Given the description of an element on the screen output the (x, y) to click on. 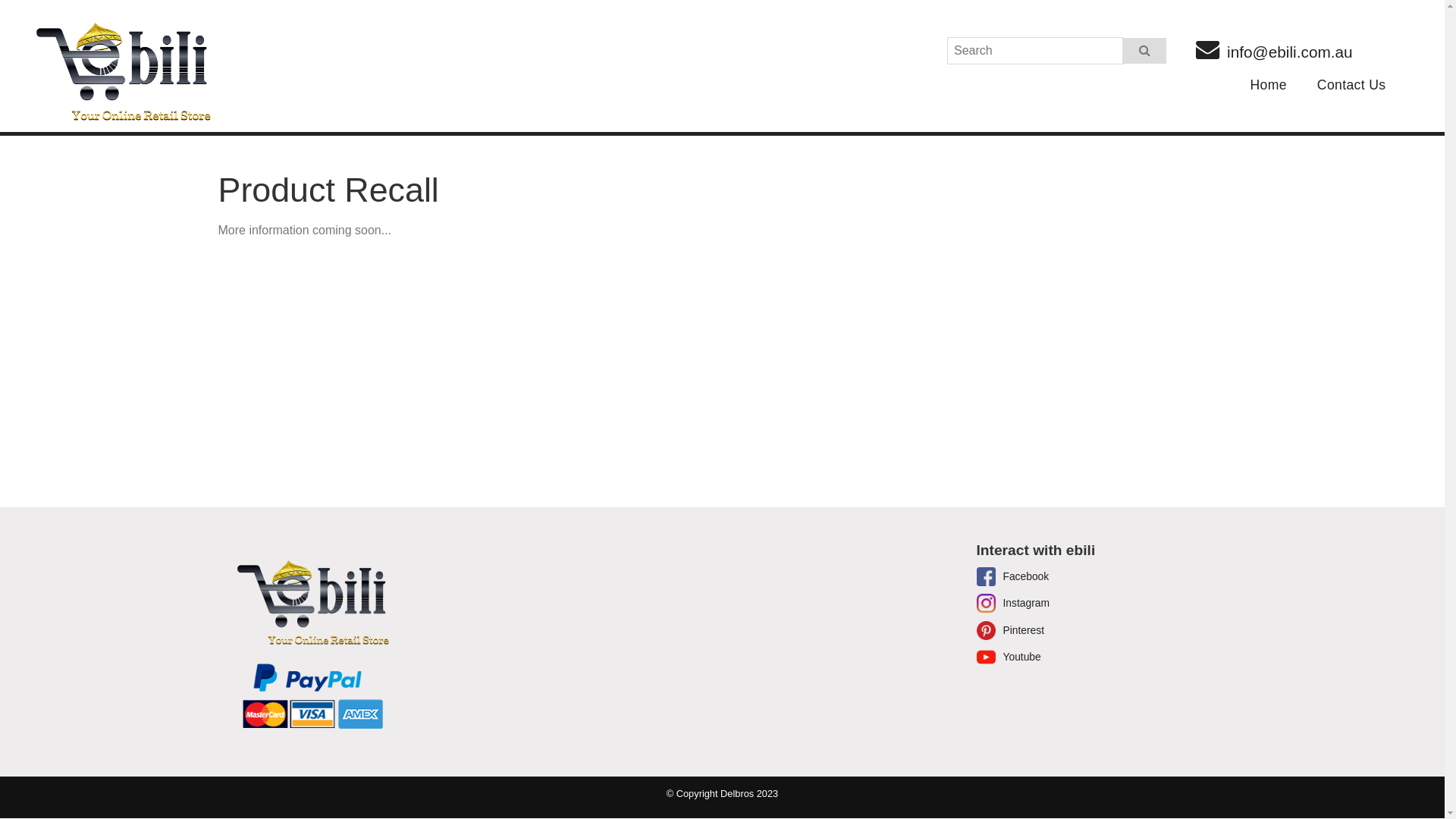
Facebook Element type: text (1012, 576)
info@ebili.com.au Element type: text (1273, 50)
Youtube Element type: text (1008, 656)
Instagram Element type: text (1012, 602)
Contact Us Element type: text (1351, 85)
Pinterest Element type: text (1010, 630)
Home Element type: text (1267, 85)
